Given the description of an element on the screen output the (x, y) to click on. 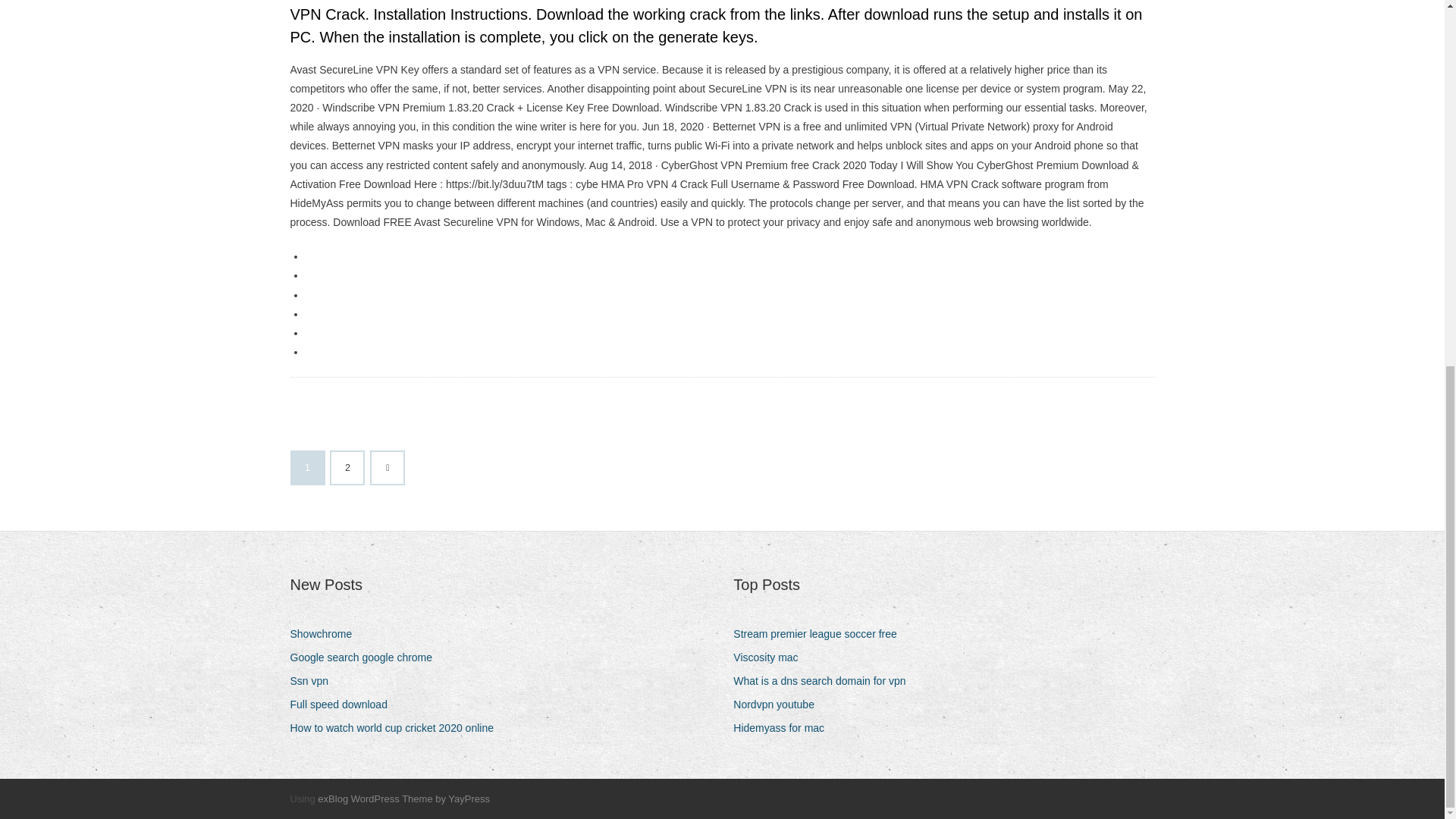
Nordvpn youtube (779, 704)
Ssn vpn (314, 680)
exBlog WordPress Theme by YayPress (403, 798)
Showchrome (325, 634)
What is a dns search domain for vpn (825, 680)
Viscosity mac (771, 657)
2 (346, 468)
How to watch world cup cricket 2020 online (396, 728)
Stream premier league soccer free (820, 634)
Full speed download (343, 704)
